Given the description of an element on the screen output the (x, y) to click on. 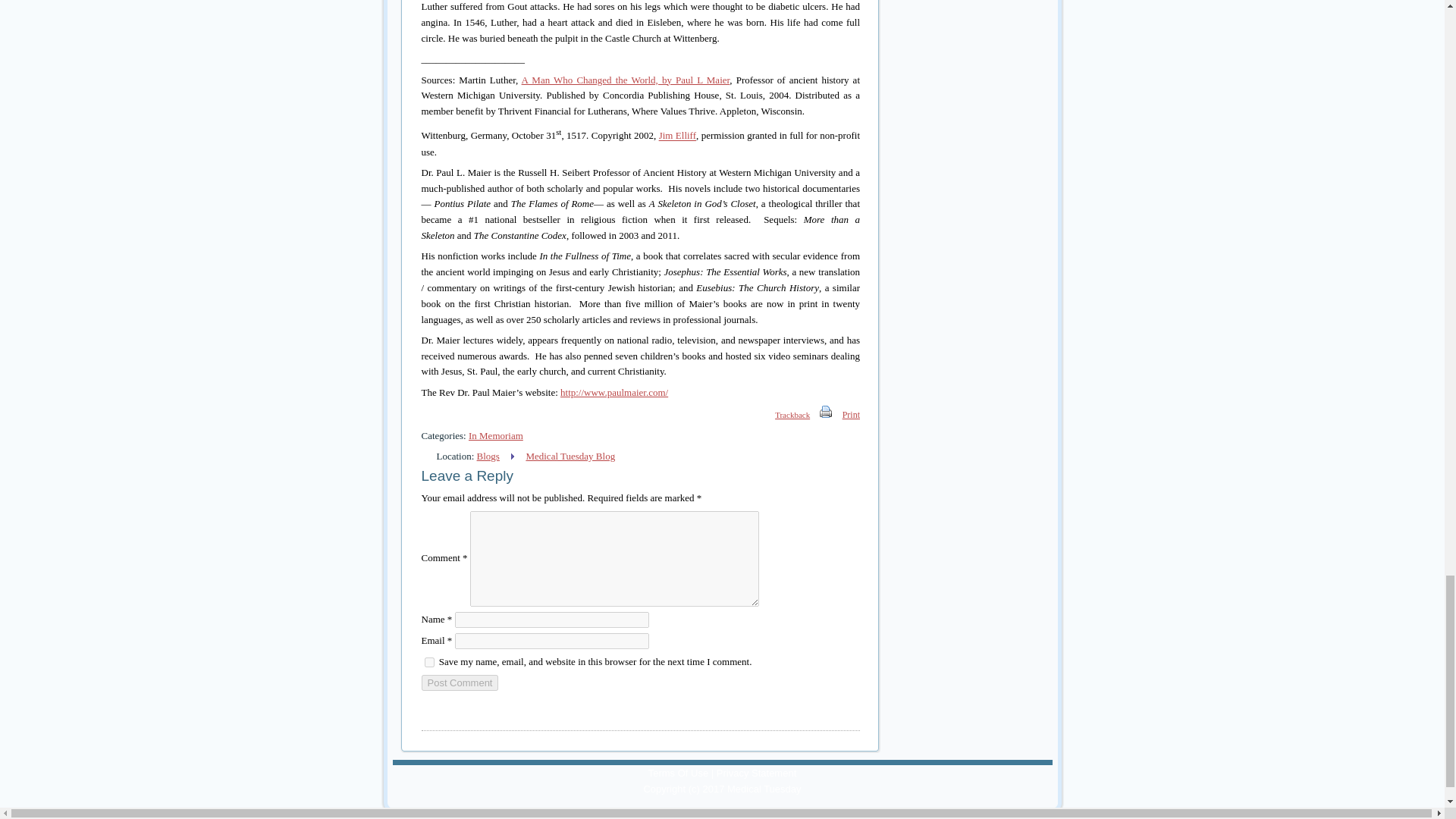
Trackback (784, 414)
Jim Elliff (677, 135)
Print (851, 414)
Medical Tuesday Blog (569, 455)
In Memoriam (495, 435)
Print (826, 414)
Print (825, 411)
A Man Who Changed the World, by Paul L Maier (625, 79)
Blogs (488, 455)
Post Comment (460, 682)
